Given the description of an element on the screen output the (x, y) to click on. 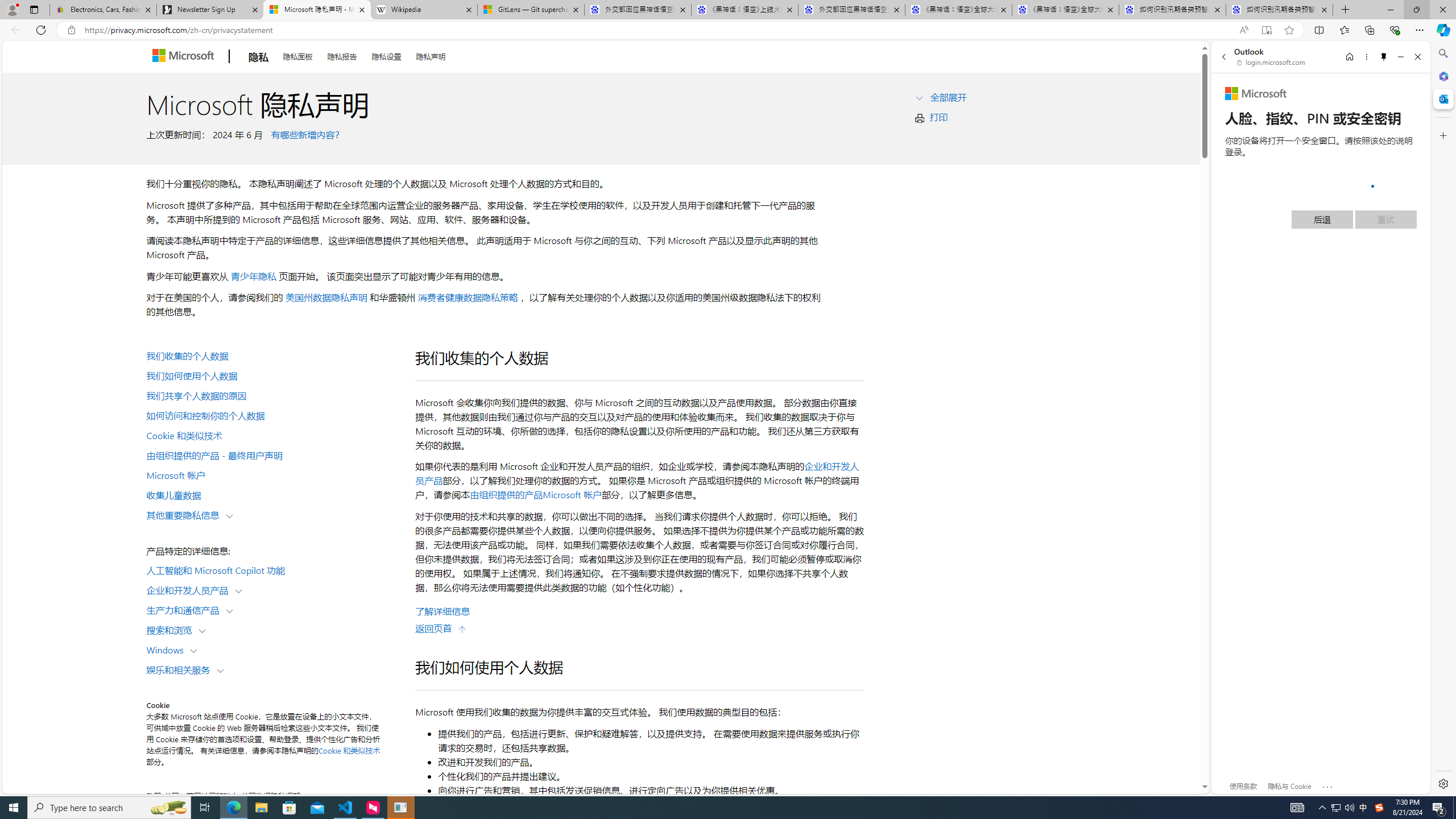
Windows (167, 649)
